Given the description of an element on the screen output the (x, y) to click on. 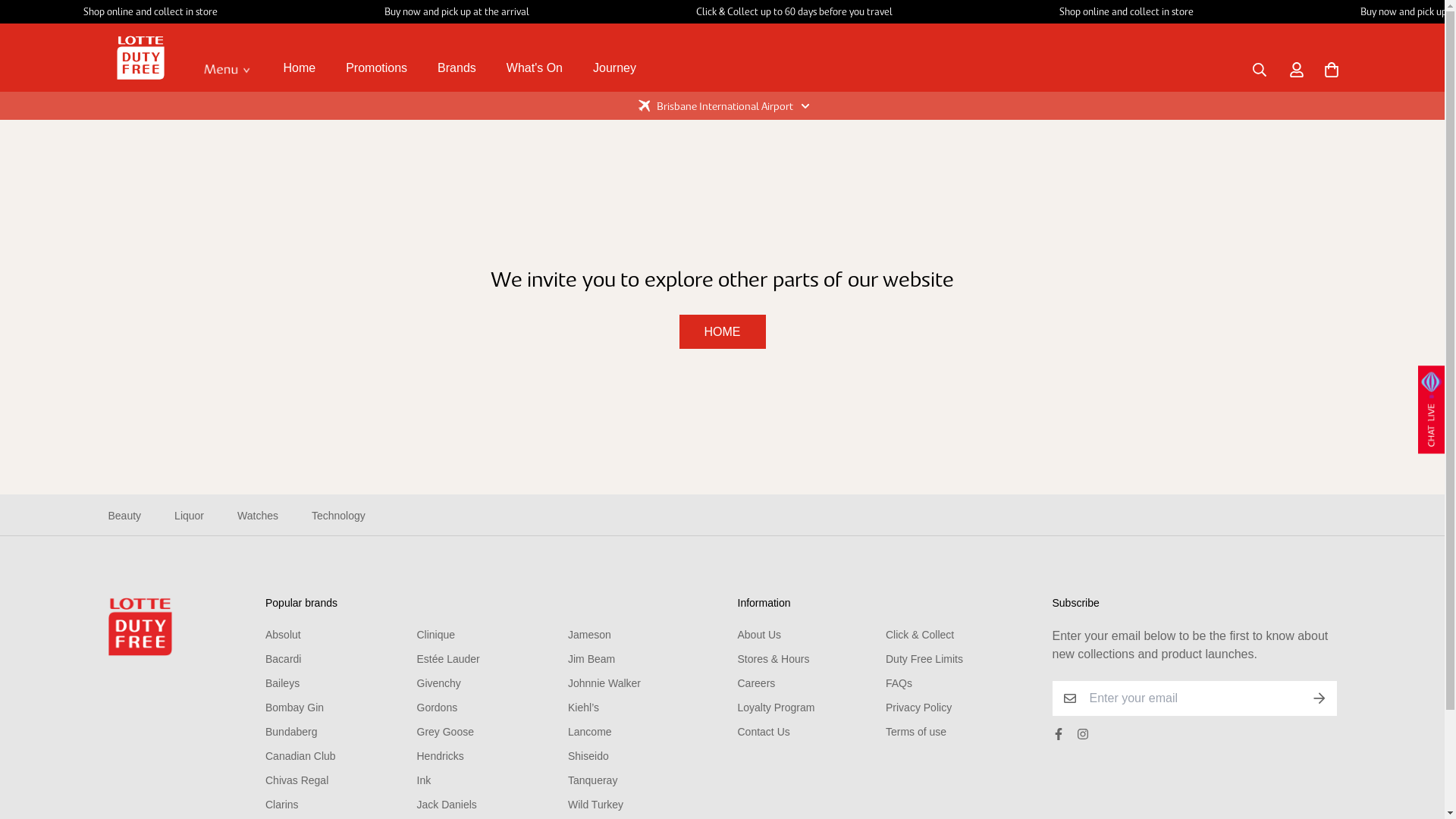
Careers Element type: text (756, 683)
Bundaberg Element type: text (291, 731)
Stores & Hours Element type: text (773, 658)
Hendricks Element type: text (440, 755)
Terms of use Element type: text (915, 731)
Promotions Element type: text (376, 67)
Brisbane International Airport Element type: text (722, 105)
Clarins Element type: text (281, 804)
Grey Goose Element type: text (445, 731)
Technology Element type: text (338, 515)
Contact Us Element type: text (763, 731)
Jim Beam Element type: text (591, 658)
Lancome Element type: text (589, 731)
Loyalty Program Element type: text (775, 707)
Clinique Element type: text (436, 634)
Gordons Element type: text (437, 707)
Liquor Element type: text (189, 515)
Bombay Gin Element type: text (294, 707)
Chivas Regal Element type: text (296, 780)
Duty Free Limits Element type: text (924, 658)
Tanqueray Element type: text (592, 780)
Journey Element type: text (614, 67)
FAQs Element type: text (898, 683)
Brands Element type: text (456, 67)
Givenchy Element type: text (439, 683)
Privacy Policy Element type: text (918, 707)
Baileys Element type: text (282, 683)
Shiseido Element type: text (587, 755)
Jameson Element type: text (589, 634)
Absolut Element type: text (283, 634)
Watches Element type: text (257, 515)
HOME Element type: text (722, 331)
About Us Element type: text (759, 634)
Bacardi Element type: text (283, 658)
Click & Collect Element type: text (919, 634)
Jack Daniels Element type: text (446, 804)
Canadian Club Element type: text (300, 755)
Home Element type: text (299, 67)
Beauty Element type: text (124, 515)
Ink Element type: text (424, 780)
Wild Turkey Element type: text (595, 804)
Johnnie Walker Element type: text (603, 683)
What's On Element type: text (534, 67)
